Given the description of an element on the screen output the (x, y) to click on. 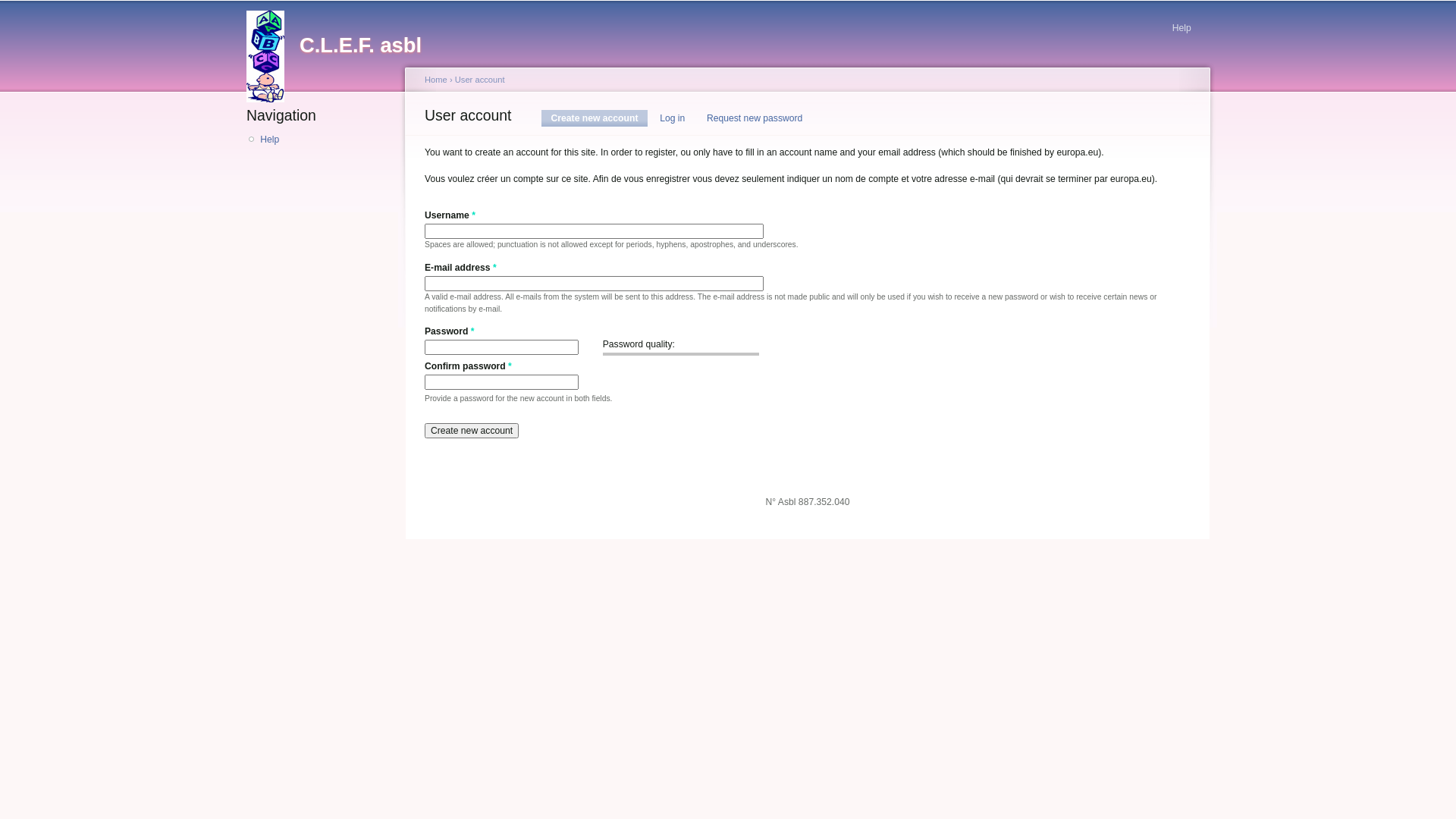
Help Element type: text (324, 139)
Help Element type: text (1181, 24)
Home Element type: text (435, 79)
Create new account Element type: text (471, 430)
Log in Element type: text (671, 117)
User account Element type: text (480, 79)
C.L.E.F. asbl Element type: text (360, 44)
Create new account
(active tab) Element type: text (593, 117)
Skip to main content Element type: text (700, 2)
C.L.E.F. asbl  Element type: hover (272, 51)
Request new password Element type: text (754, 117)
